Given the description of an element on the screen output the (x, y) to click on. 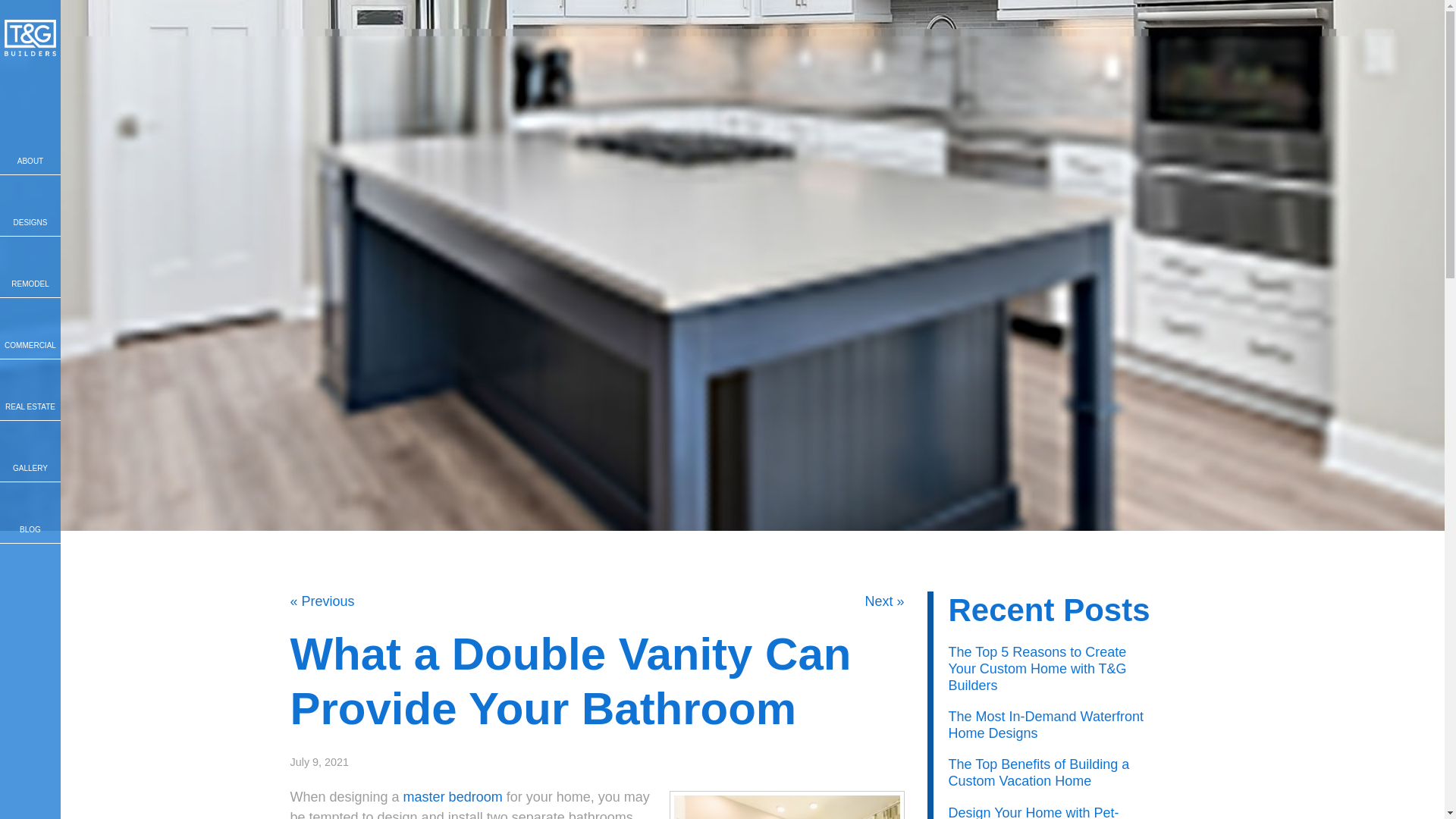
REMODEL (30, 266)
REAL ESTATE (30, 389)
ABOUT (30, 143)
DESIGNS (30, 205)
BLOG (30, 512)
COMMERCIAL (30, 328)
master bedroom (452, 796)
GALLERY (30, 450)
